Given the description of an element on the screen output the (x, y) to click on. 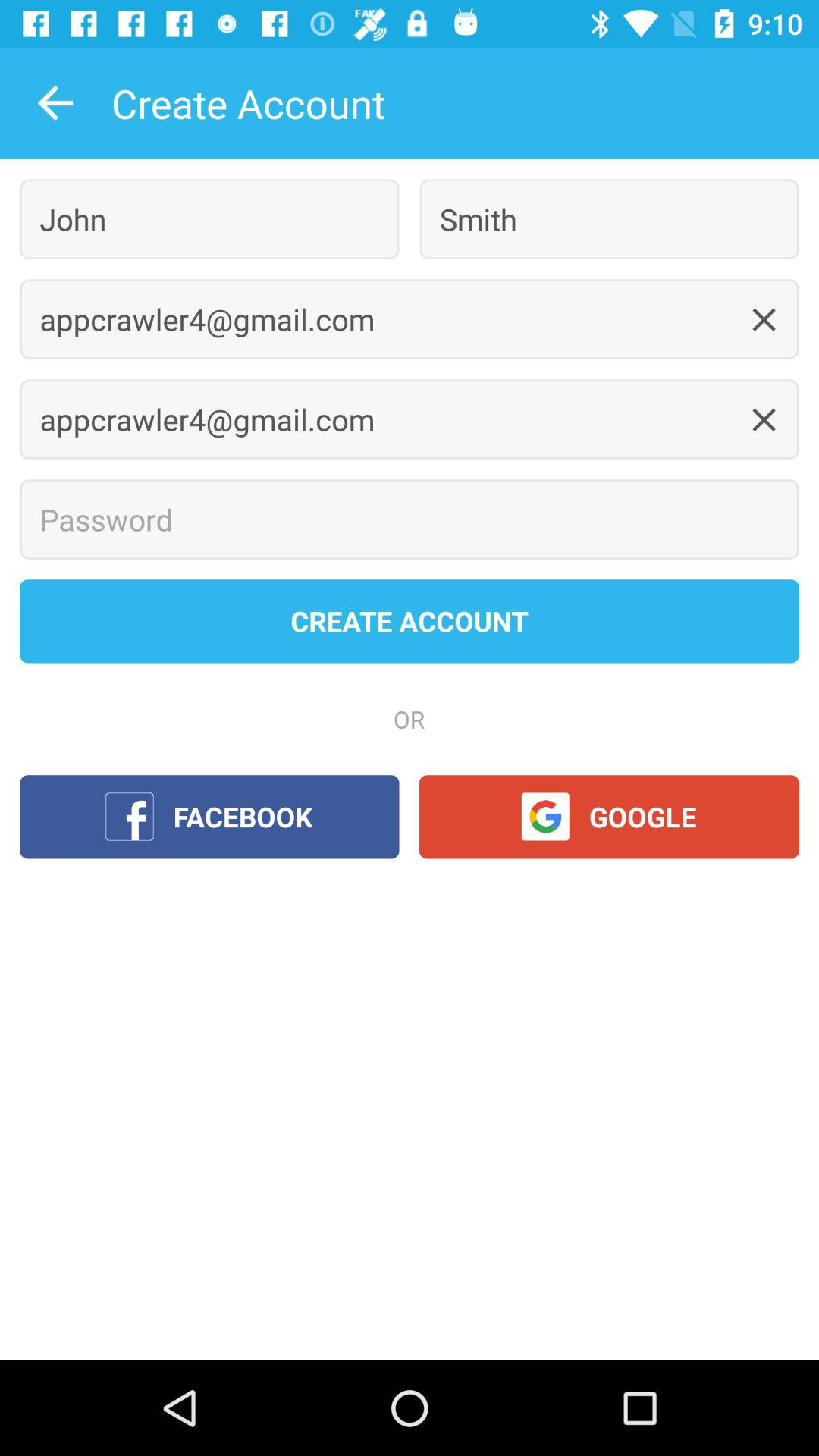
select the icon next to the smith item (209, 219)
